Given the description of an element on the screen output the (x, y) to click on. 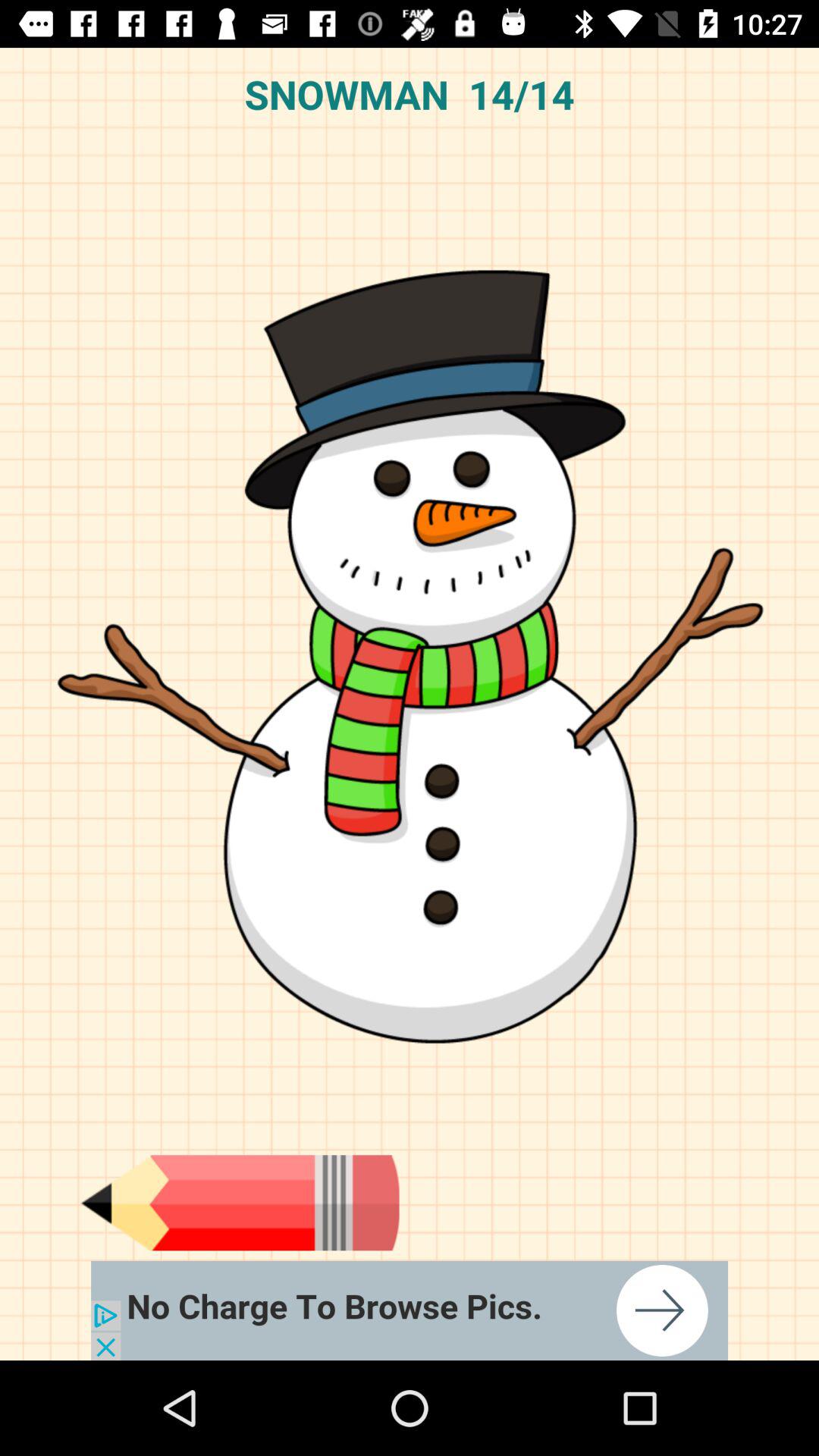
go next (409, 1310)
